Given the description of an element on the screen output the (x, y) to click on. 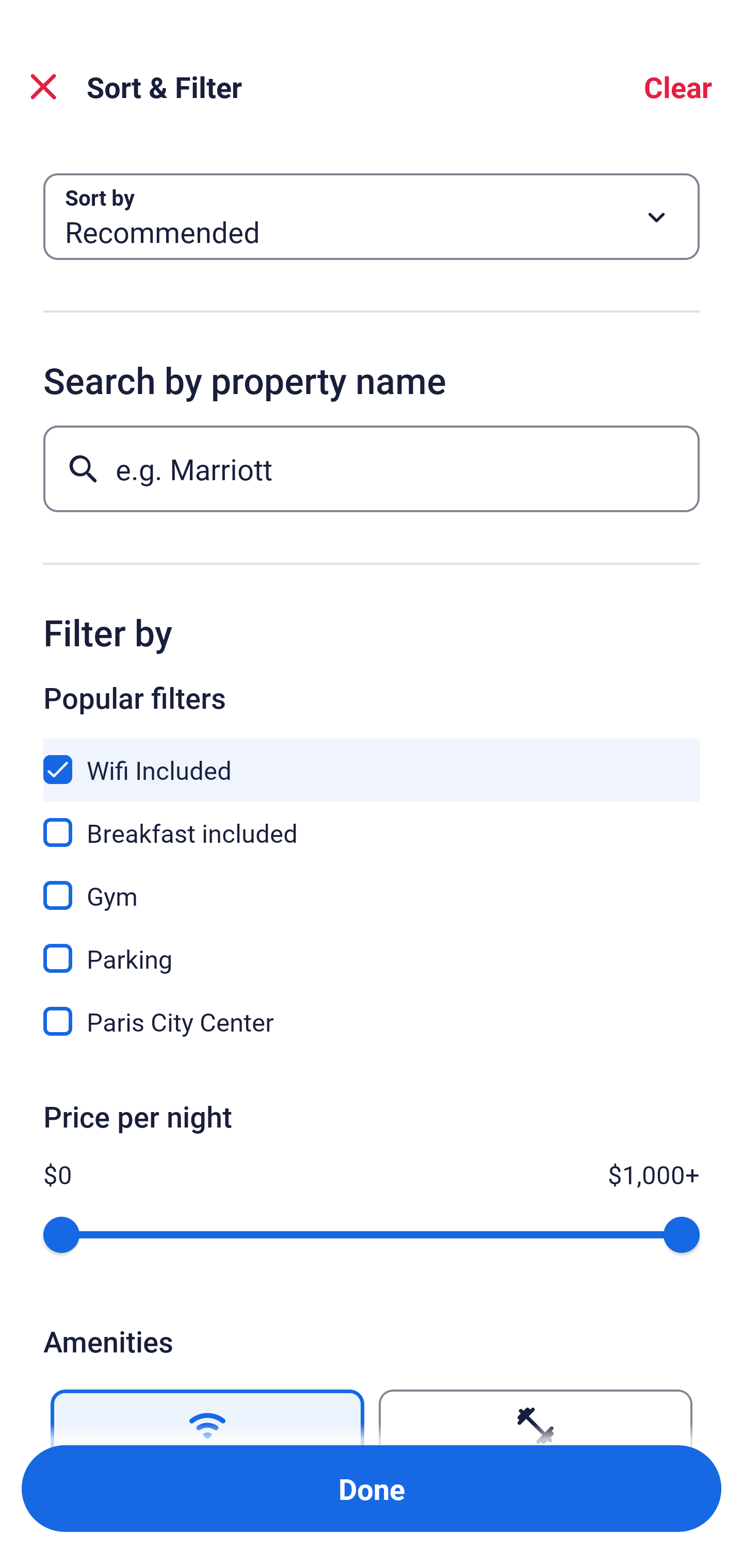
Close Sort and Filter (43, 86)
Clear (677, 86)
Sort by Button Recommended (371, 217)
e.g. Marriott Button (371, 468)
Wifi Included, Wifi Included (371, 757)
Breakfast included, Breakfast included (371, 821)
Gym, Gym (371, 883)
Parking, Parking (371, 946)
Paris City Center, Paris City Center (371, 1021)
Apply and close Sort and Filter Done (371, 1488)
